Given the description of an element on the screen output the (x, y) to click on. 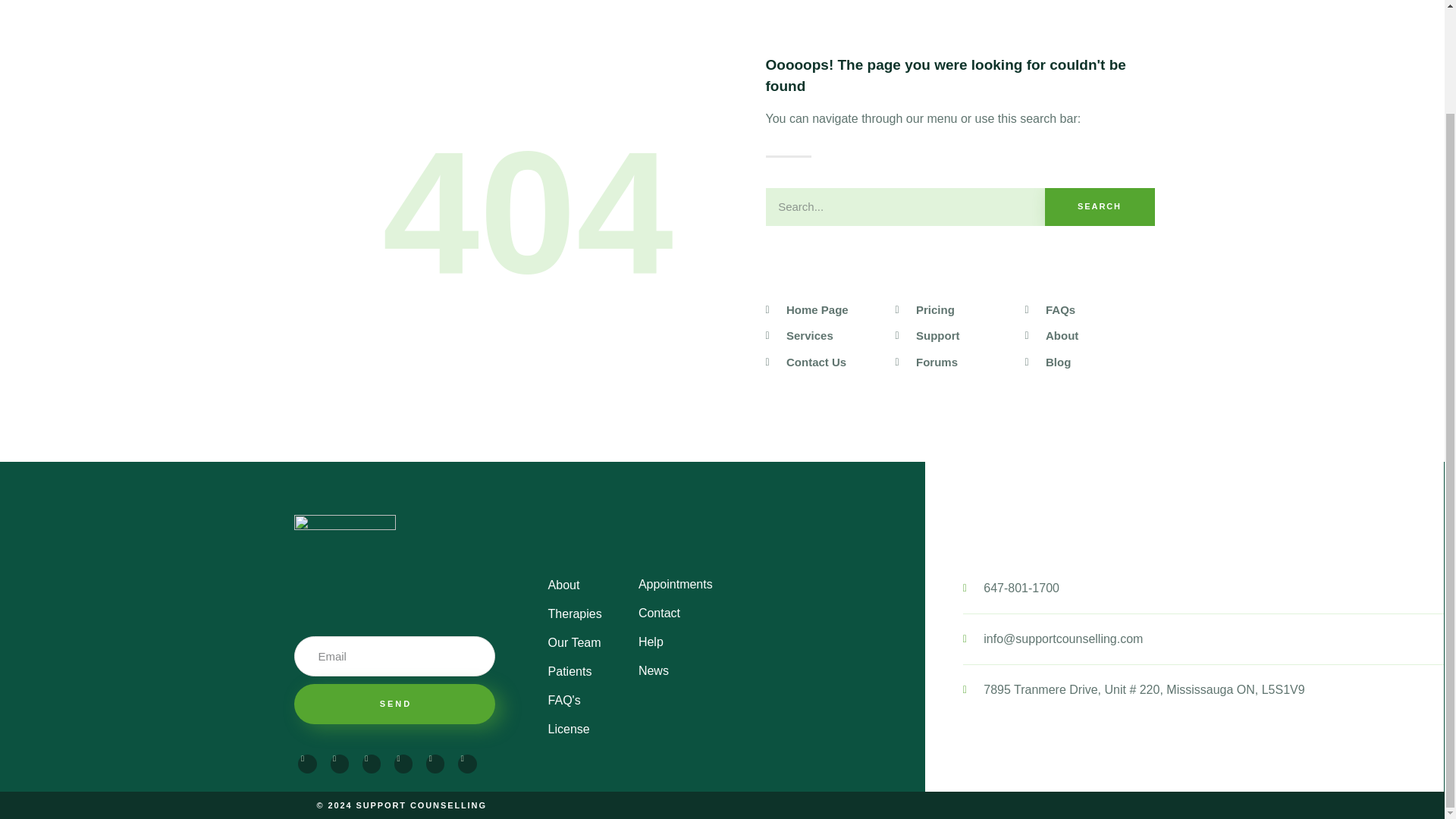
Search (905, 207)
SEARCH (1099, 207)
Search (1099, 207)
SEND (394, 703)
